Given the description of an element on the screen output the (x, y) to click on. 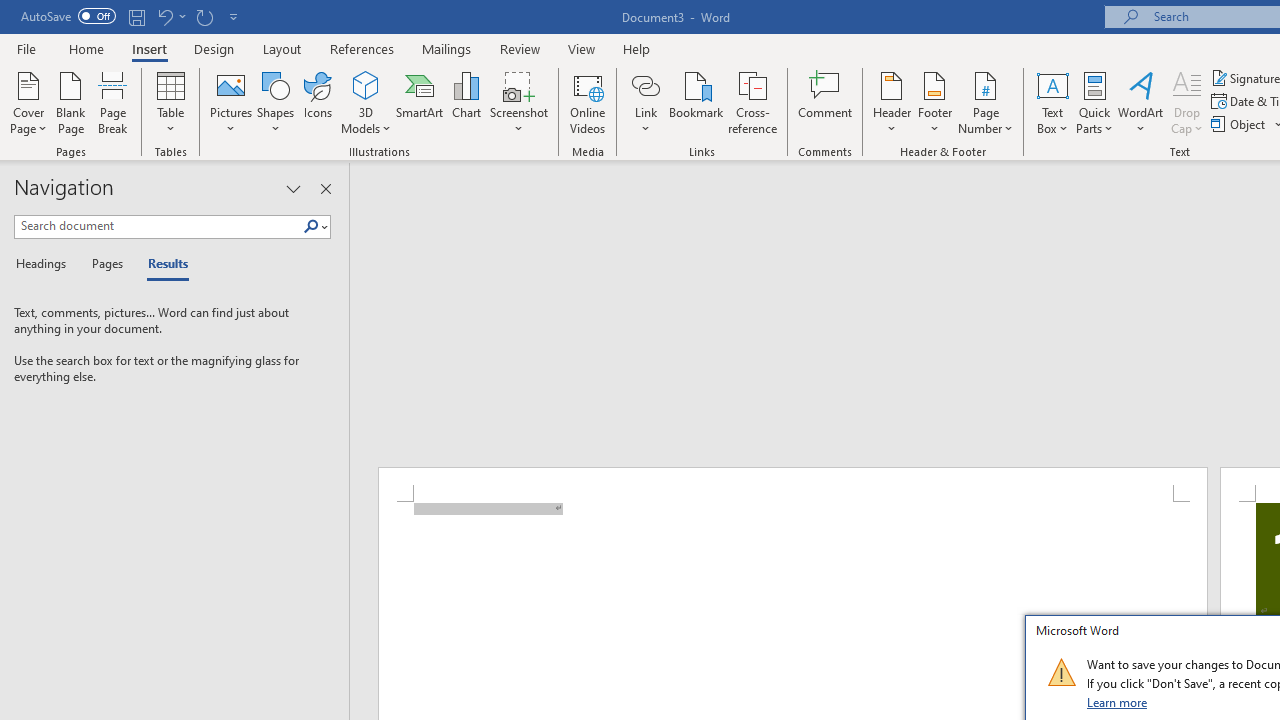
3D Models (366, 102)
Class: NetUIImage (1061, 671)
File Tab (26, 48)
WordArt (1141, 102)
Table (170, 102)
Cover Page (28, 102)
Headings (45, 264)
Shapes (275, 102)
System (10, 11)
References (362, 48)
Pages (105, 264)
Results (161, 264)
Comment (825, 102)
Mailings (447, 48)
View (582, 48)
